Given the description of an element on the screen output the (x, y) to click on. 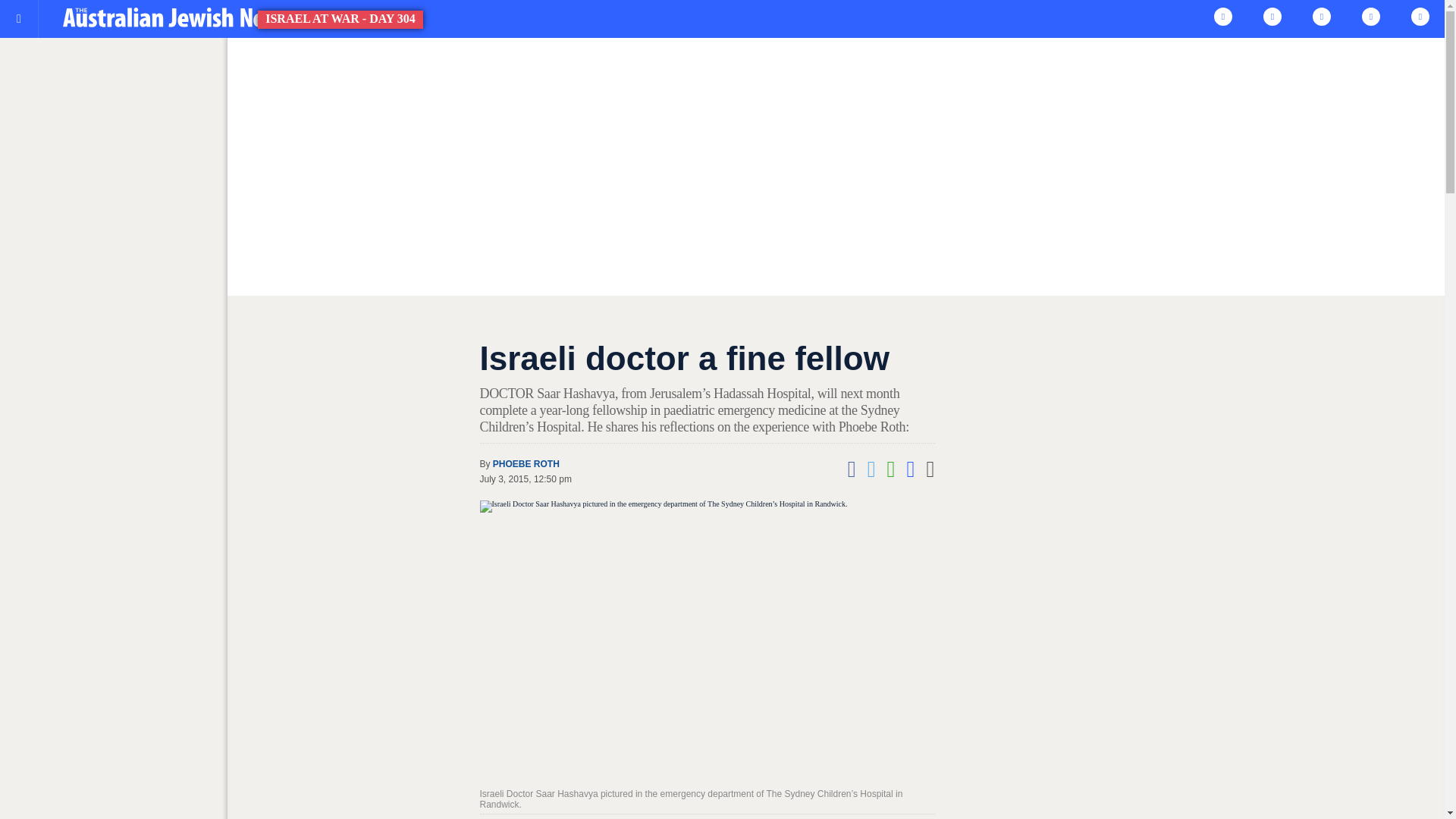
Phoebe Roth (526, 463)
ISRAEL AT WAR - DAY 304 (175, 17)
